Given the description of an element on the screen output the (x, y) to click on. 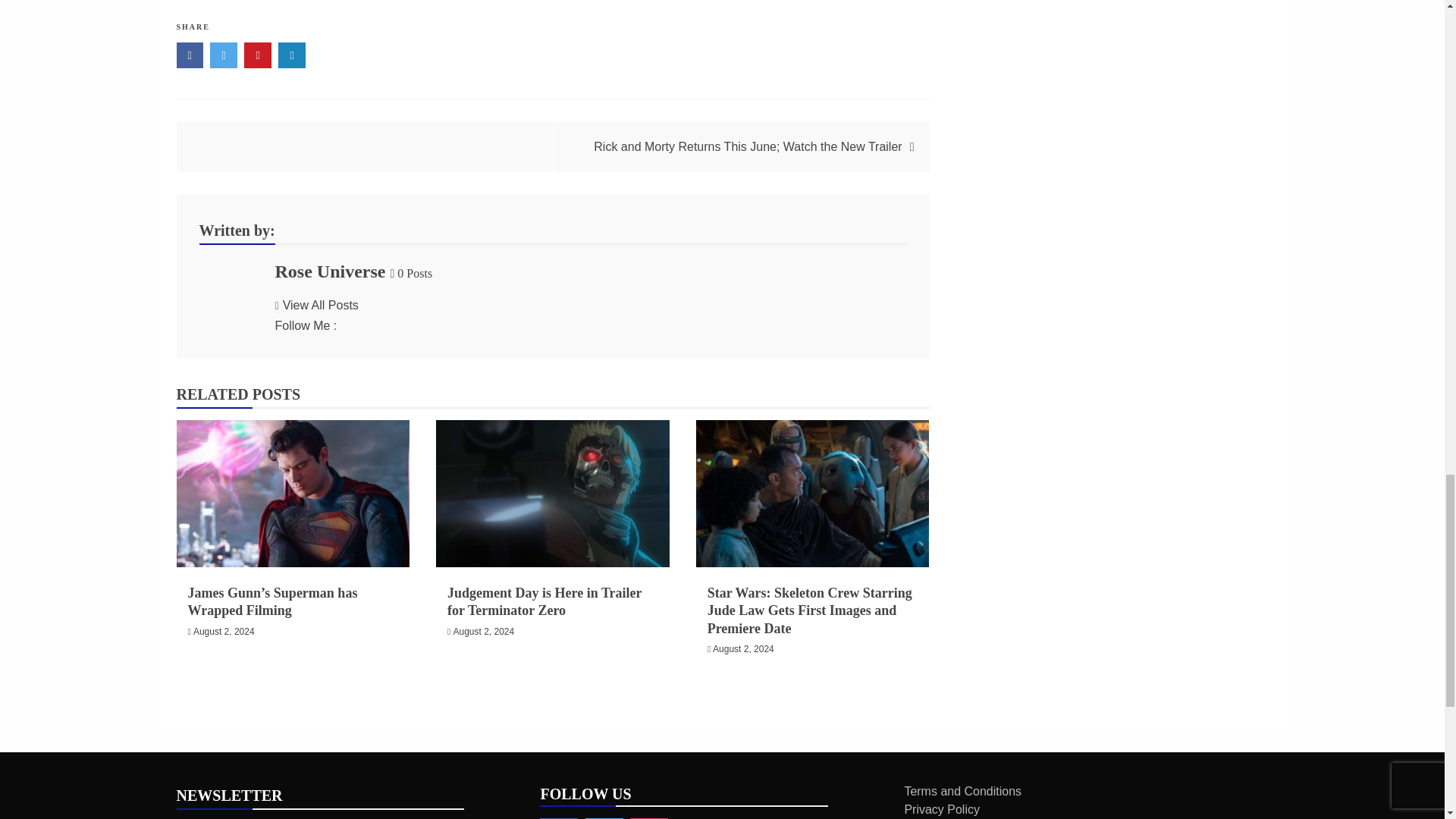
Rose Universe (330, 271)
View All Posts (316, 305)
Rick and Morty Returns This June; Watch the New Trailer (747, 146)
Judgement Day is Here in Trailer for Terminator Zero 3 (552, 493)
Posts by Rose Universe (330, 271)
